Given the description of an element on the screen output the (x, y) to click on. 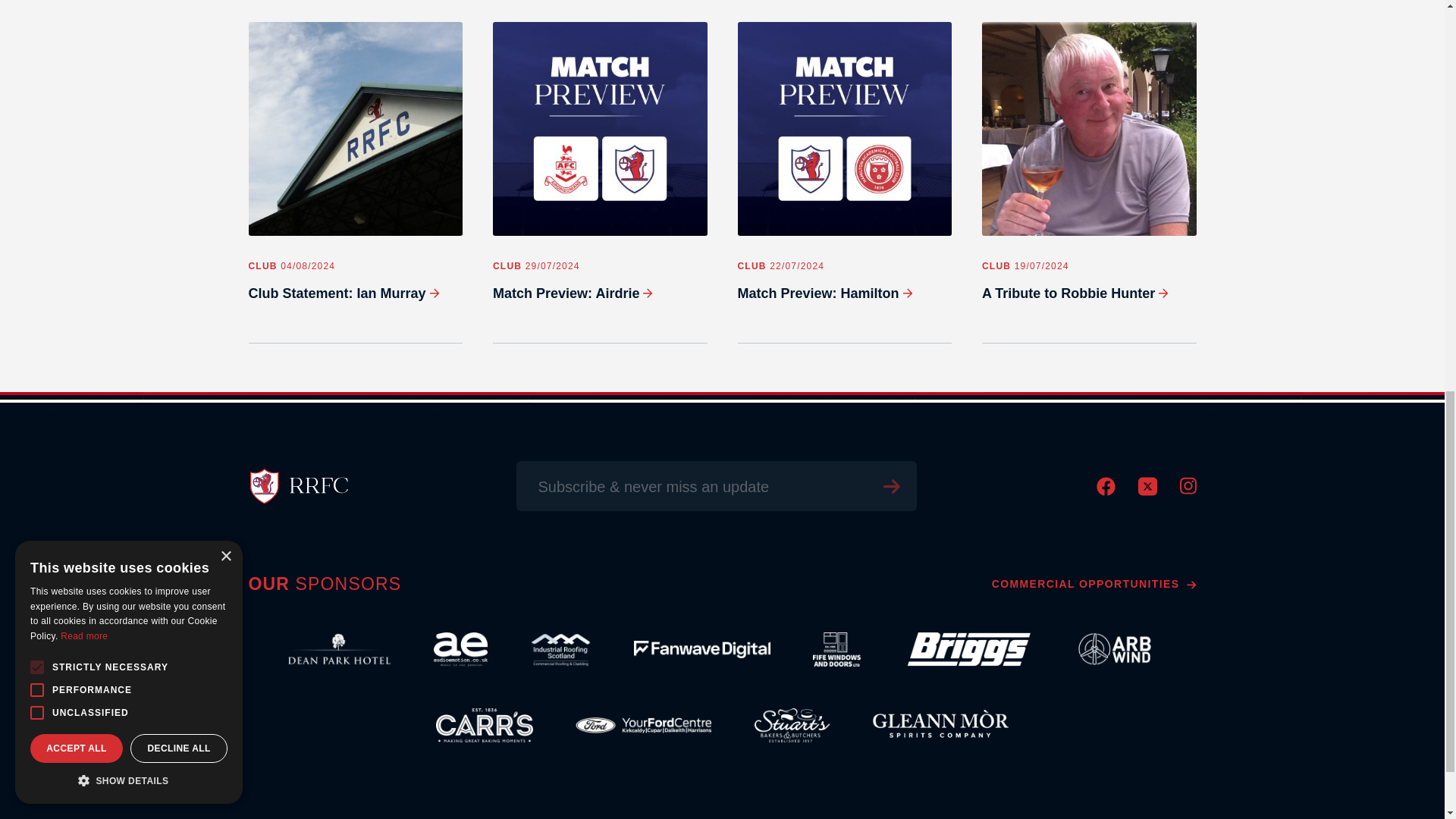
Dean Park Hotel (339, 648)
Find us on Facebook (1105, 491)
Commercial Opportunities (1093, 583)
Industrial Roofing Scotland (560, 648)
Carr's (484, 724)
Your Ford Centre (643, 724)
Fanwave Digital (701, 648)
ARB Wind (1114, 648)
Find us on Instagram (1187, 490)
Brigg's Marine (966, 648)
Find us on X (1146, 491)
